Given the description of an element on the screen output the (x, y) to click on. 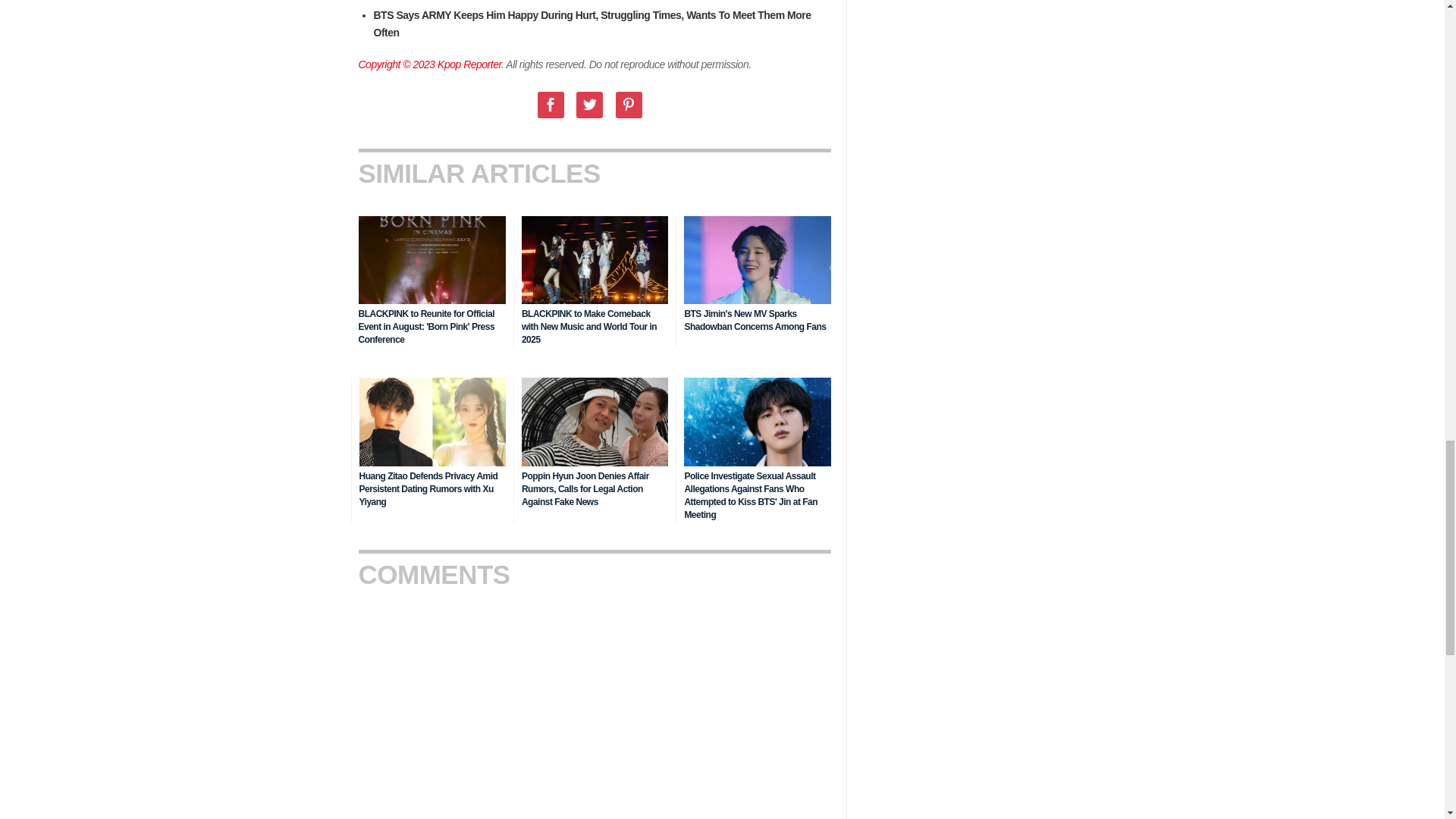
Twitter (589, 104)
BTS Jimin's New MV Sparks Shadowban Concerns Among Fans (754, 320)
Pinterest (628, 104)
Kpop Reporter (469, 64)
Facebook (550, 104)
Vuukle Comments Widget (593, 708)
